Given the description of an element on the screen output the (x, y) to click on. 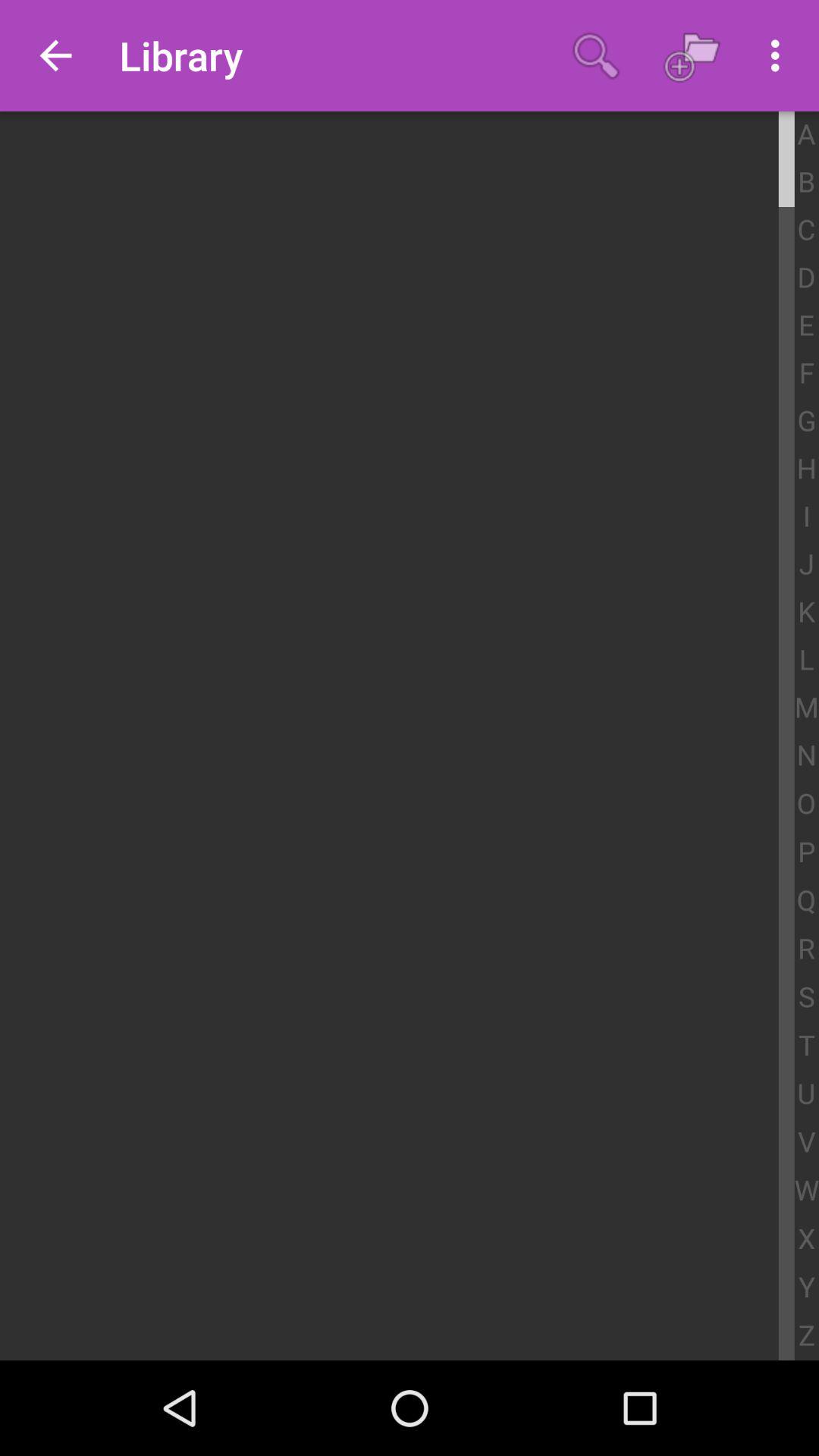
jump to i item (806, 517)
